Given the description of an element on the screen output the (x, y) to click on. 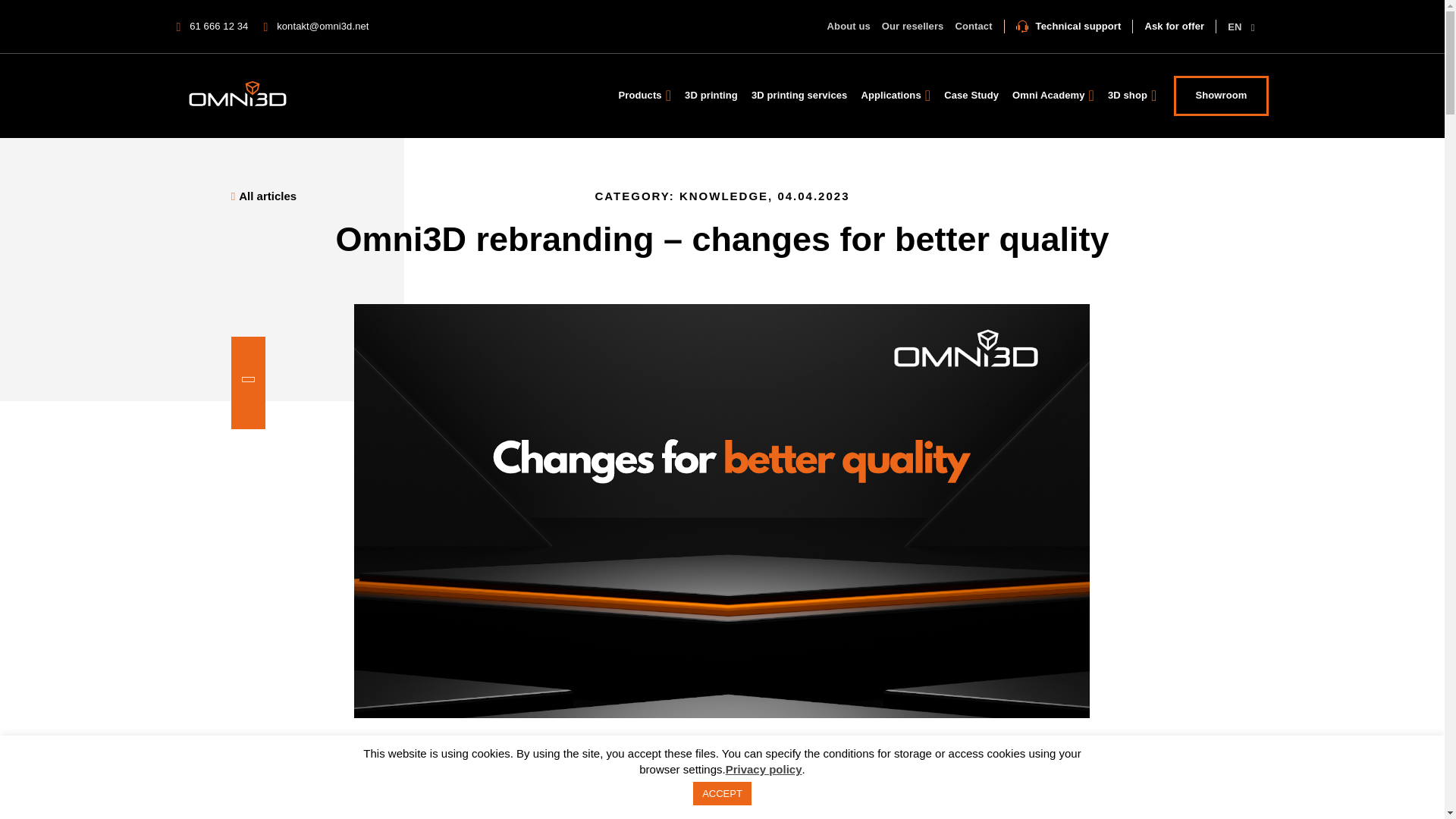
Applications (895, 95)
About us (848, 26)
Omni Academy (1052, 95)
3D shop (1132, 95)
61 666 12 34 (211, 26)
3D printing services (799, 95)
Ask for offer (1179, 26)
Contact (973, 26)
EN (1241, 26)
Products (644, 95)
Case Study (970, 95)
Our resellers (912, 26)
Technical support (1069, 26)
3D printing (711, 95)
